Given the description of an element on the screen output the (x, y) to click on. 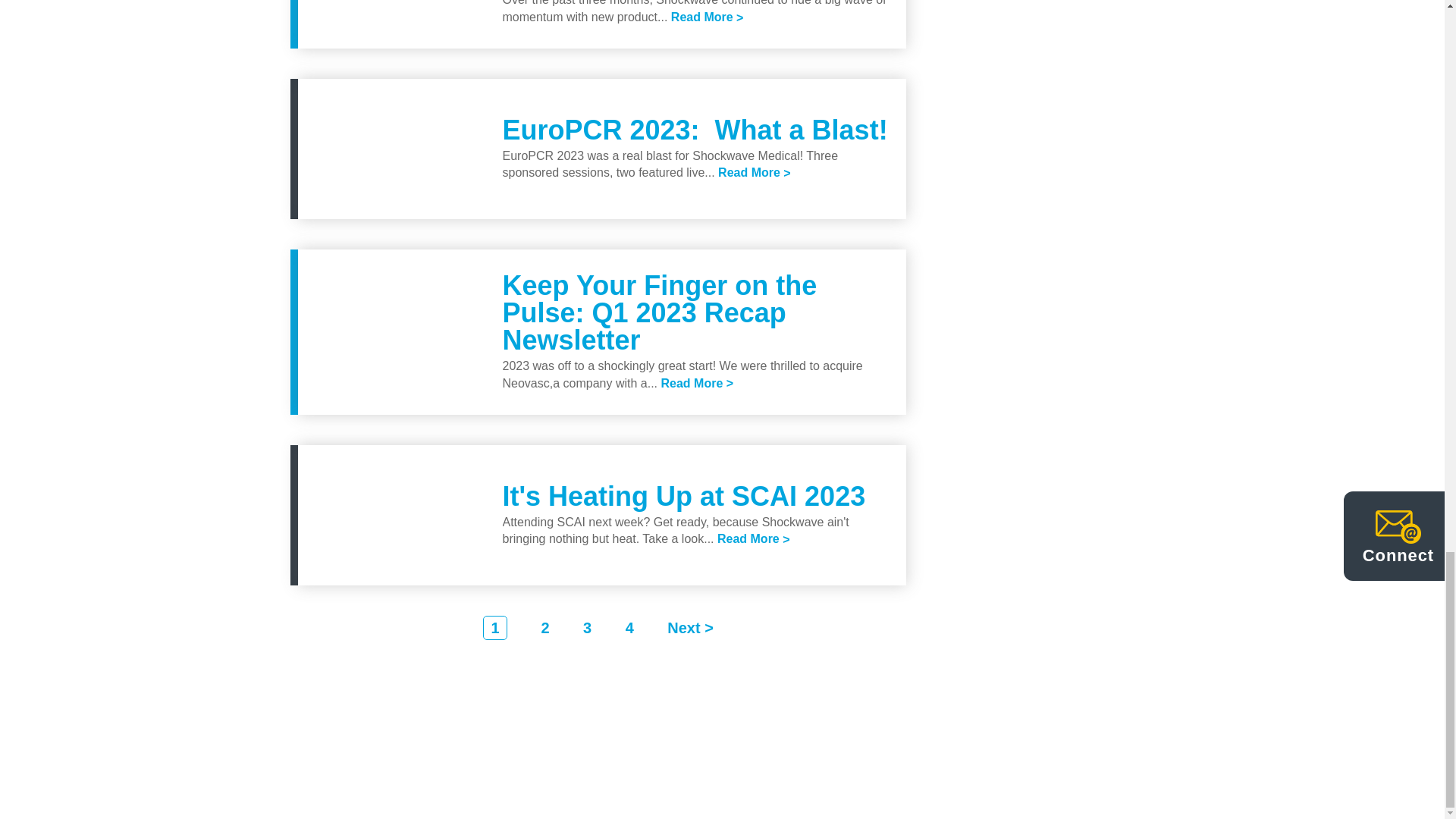
1 (494, 627)
